Given the description of an element on the screen output the (x, y) to click on. 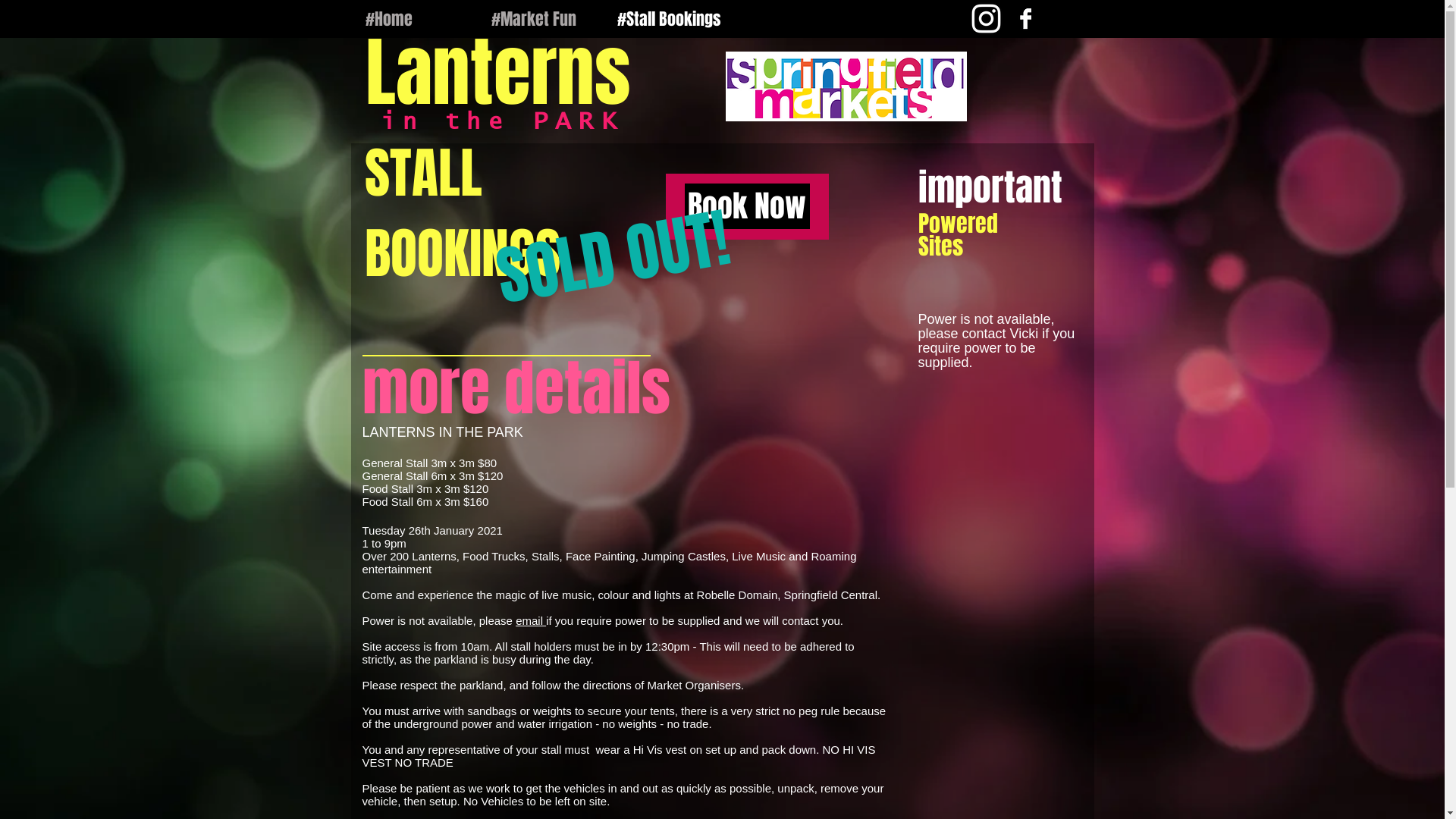
#Home Element type: text (416, 18)
email Element type: text (530, 620)
#Stall Bookings Element type: text (668, 18)
#Market Fun Element type: text (542, 18)
